Given the description of an element on the screen output the (x, y) to click on. 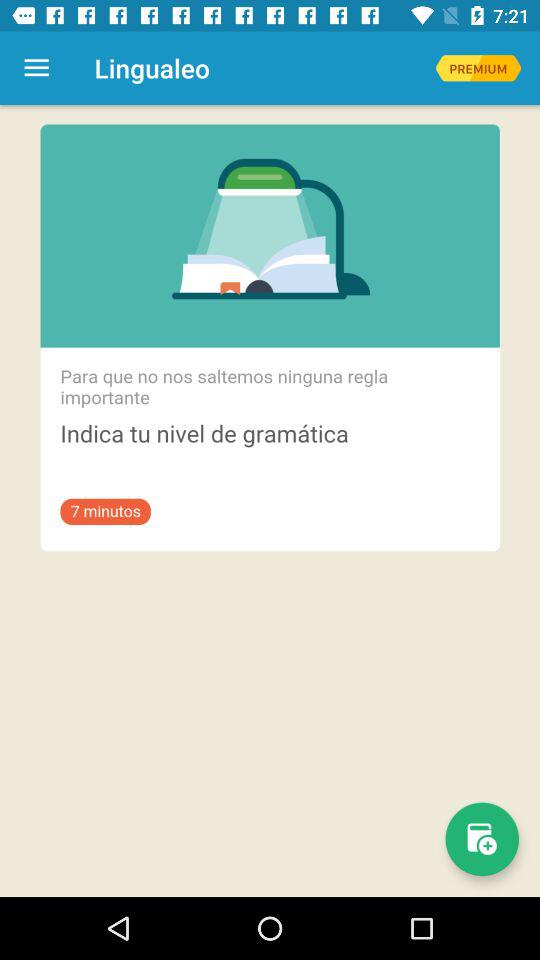
add a lesson (482, 839)
